Given the description of an element on the screen output the (x, y) to click on. 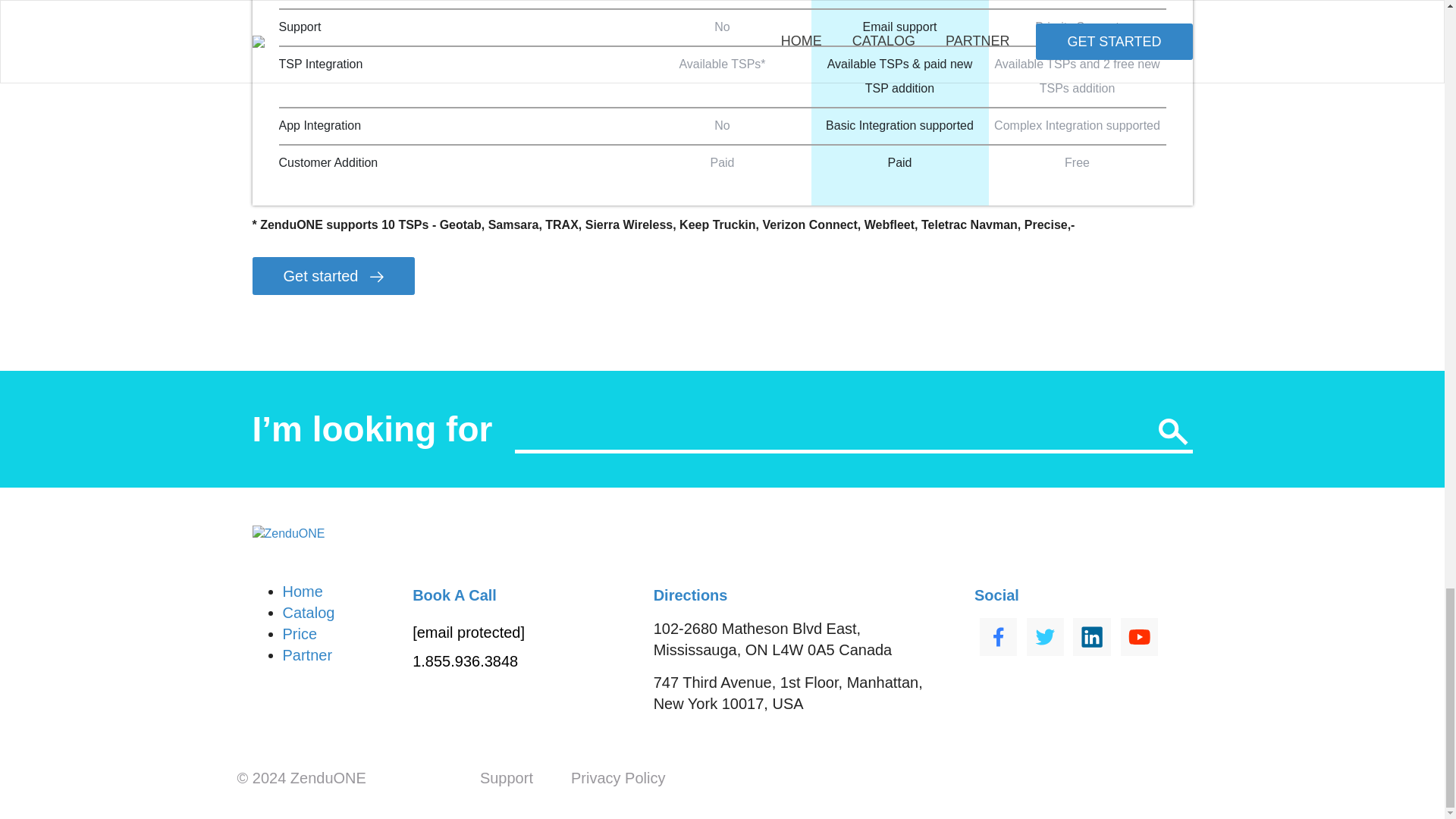
Support (506, 777)
Privacy Policy (617, 777)
Get started (332, 275)
1.855.936.3848 (465, 661)
YouTube (1136, 635)
Twitter (1043, 635)
Catalog (308, 612)
Linkedin (1088, 635)
Partner (306, 655)
Price (299, 633)
Facebook (998, 635)
Home (301, 591)
